Given the description of an element on the screen output the (x, y) to click on. 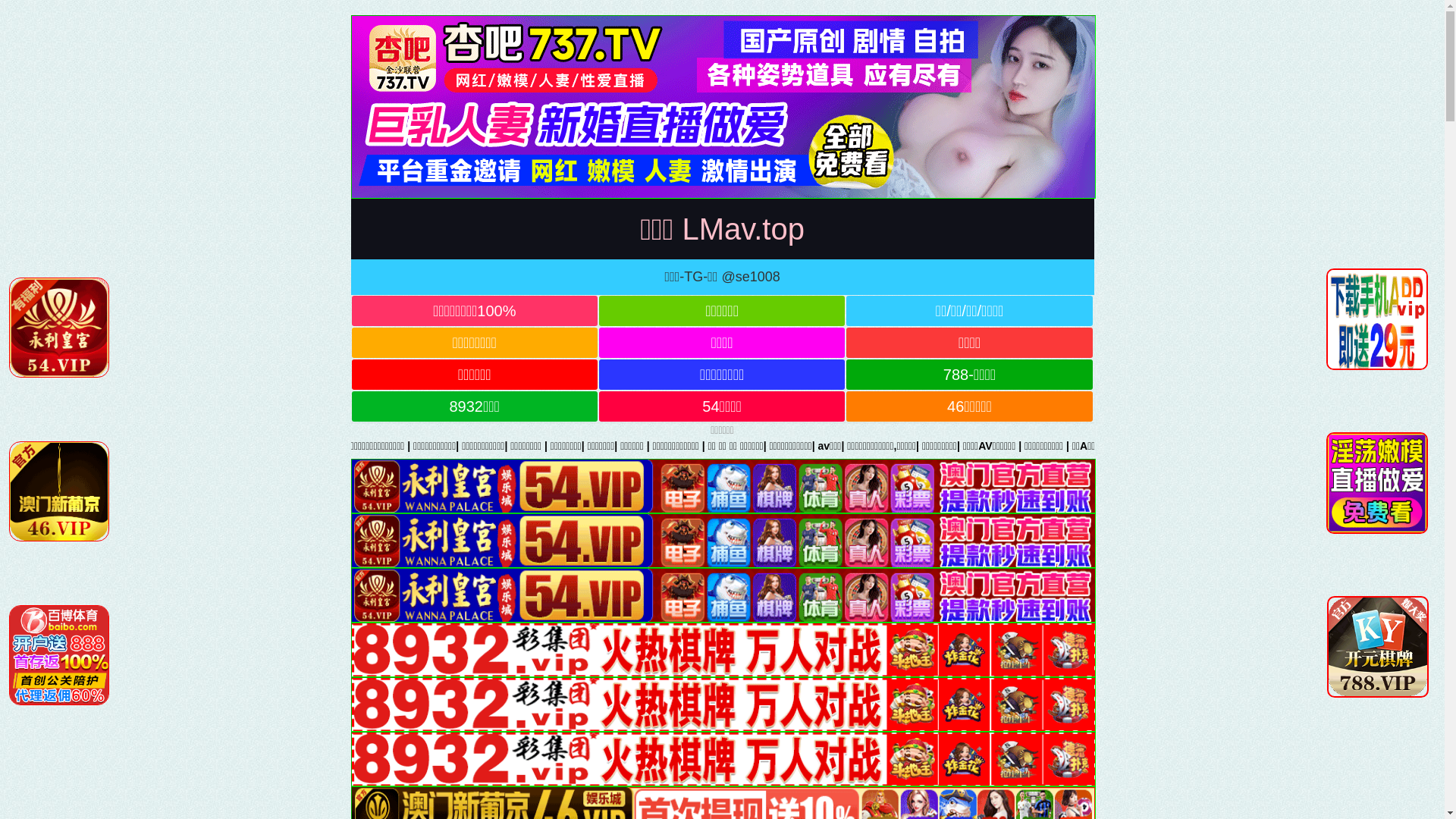
| Element type: text (1155, 445)
| Element type: text (921, 445)
| Element type: text (1071, 445)
| Element type: text (754, 445)
| Element type: text (1215, 445)
| Element type: text (813, 445)
| Element type: text (172, 445)
| Element type: text (616, 445)
| Element type: text (1006, 445)
| Element type: text (1362, 445)
| Element type: text (214, 445)
| Element type: text (418, 445)
| Element type: text (1262, 445)
| Element type: text (468, 445)
| Element type: text (517, 445)
| Element type: text (563, 445)
| Element type: text (678, 445)
| Element type: text (264, 445)
| Element type: text (875, 445)
| Element type: text (715, 445)
| Element type: text (308, 445)
| Element type: text (1288, 445)
| Element type: text (350, 445)
| Element type: text (1041, 445)
| Element type: text (967, 445)
| Element type: text (1102, 445)
| Element type: text (1400, 445)
| Element type: text (145, 445)
